Given the description of an element on the screen output the (x, y) to click on. 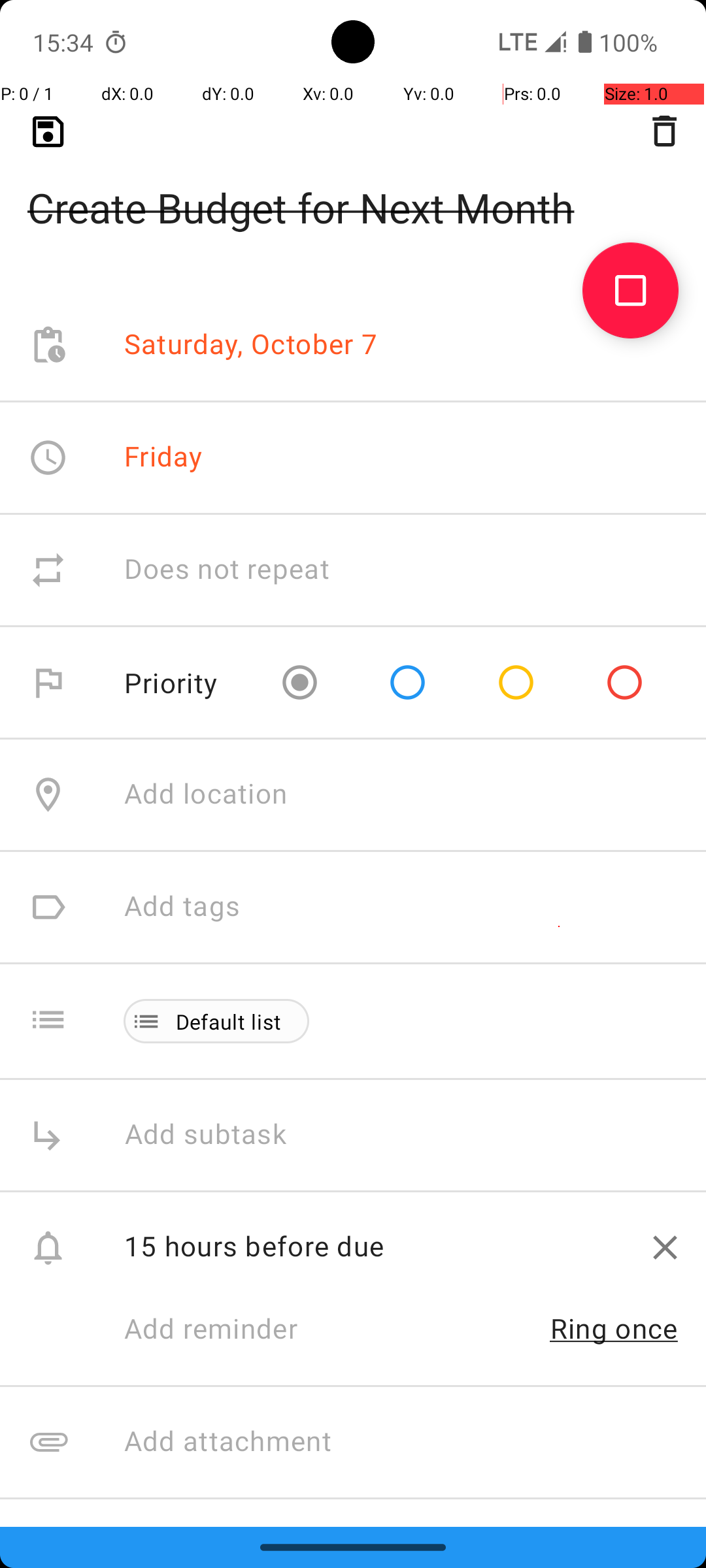
Saturday, October 7 Element type: android.widget.TextView (250, 344)
Ring once Element type: android.widget.TextView (613, 1328)
15 hours before due Element type: android.widget.TextView (373, 1245)
